Given the description of an element on the screen output the (x, y) to click on. 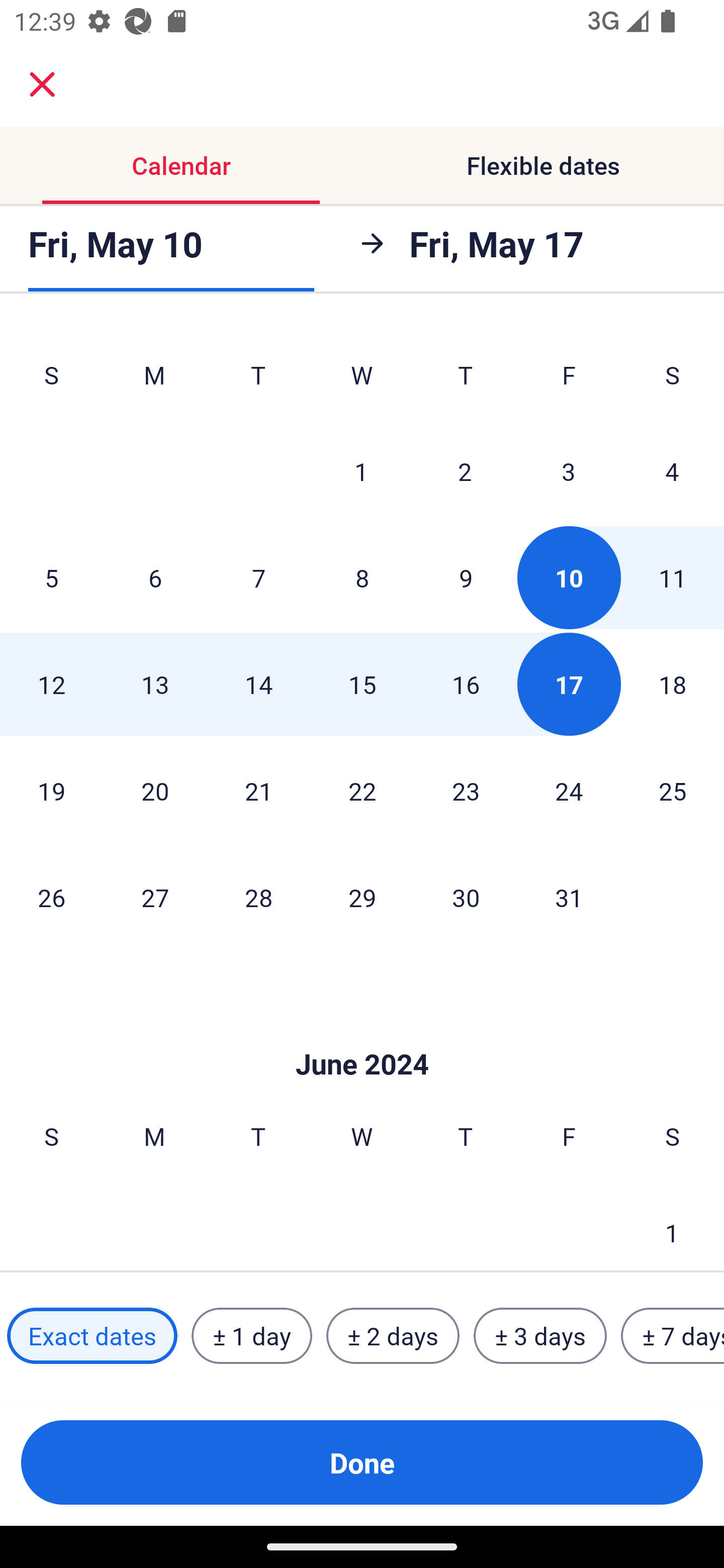
close. (42, 84)
Flexible dates (542, 164)
1 Wednesday, May 1, 2024 (361, 471)
2 Thursday, May 2, 2024 (464, 471)
3 Friday, May 3, 2024 (568, 471)
4 Saturday, May 4, 2024 (672, 471)
5 Sunday, May 5, 2024 (51, 577)
6 Monday, May 6, 2024 (155, 577)
7 Tuesday, May 7, 2024 (258, 577)
8 Wednesday, May 8, 2024 (362, 577)
9 Thursday, May 9, 2024 (465, 577)
18 Saturday, May 18, 2024 (672, 684)
19 Sunday, May 19, 2024 (51, 790)
20 Monday, May 20, 2024 (155, 790)
21 Tuesday, May 21, 2024 (258, 790)
22 Wednesday, May 22, 2024 (362, 790)
23 Thursday, May 23, 2024 (465, 790)
24 Friday, May 24, 2024 (569, 790)
25 Saturday, May 25, 2024 (672, 790)
26 Sunday, May 26, 2024 (51, 896)
27 Monday, May 27, 2024 (155, 896)
28 Tuesday, May 28, 2024 (258, 896)
29 Wednesday, May 29, 2024 (362, 896)
30 Thursday, May 30, 2024 (465, 896)
31 Friday, May 31, 2024 (569, 896)
Skip to Done (362, 1034)
1 Saturday, June 1, 2024 (672, 1225)
Exact dates (92, 1335)
± 1 day (251, 1335)
± 2 days (392, 1335)
± 3 days (539, 1335)
± 7 days (672, 1335)
Done (361, 1462)
